Given the description of an element on the screen output the (x, y) to click on. 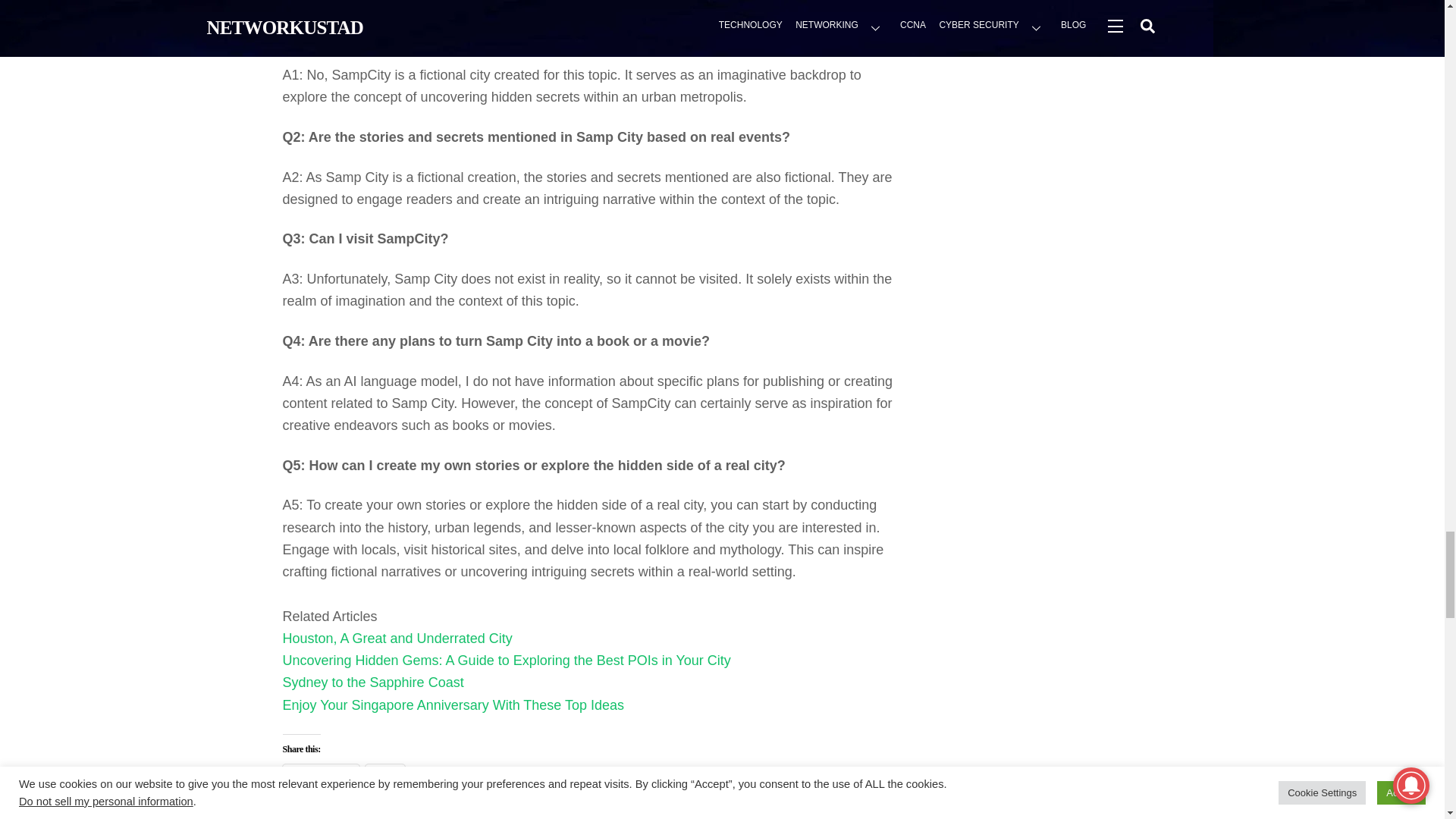
Facebook (320, 775)
Enjoy Your Singapore Anniversary With These Top Ideas (453, 704)
Sydney to the Sapphire Coast (372, 682)
X (385, 775)
Houston, A Great and Underrated City (397, 638)
